Given the description of an element on the screen output the (x, y) to click on. 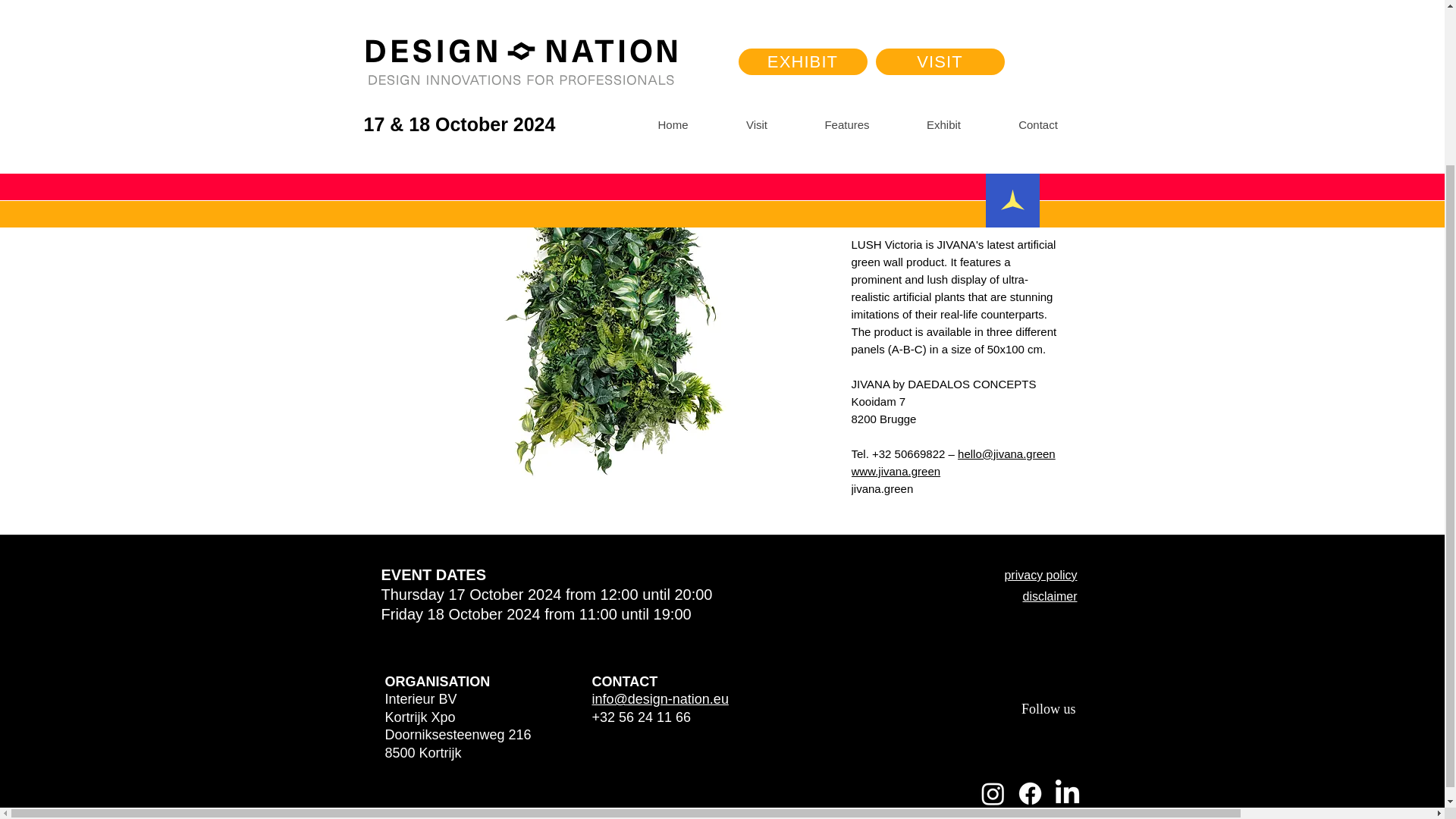
disclaimer (1049, 595)
privacy policy (1040, 574)
www.jivana.green (895, 471)
